Given the description of an element on the screen output the (x, y) to click on. 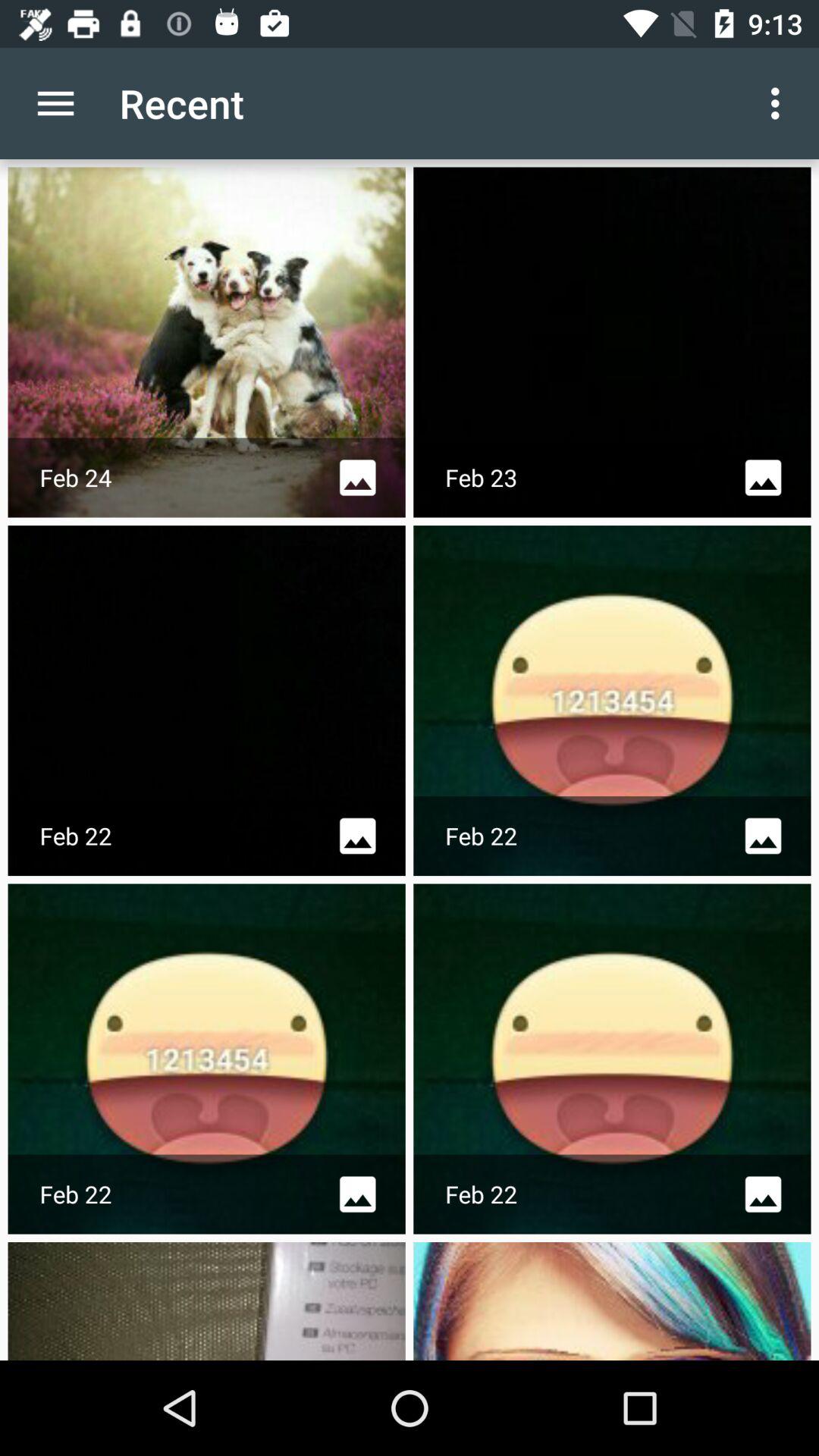
choose the item to the left of the recent app (55, 103)
